Given the description of an element on the screen output the (x, y) to click on. 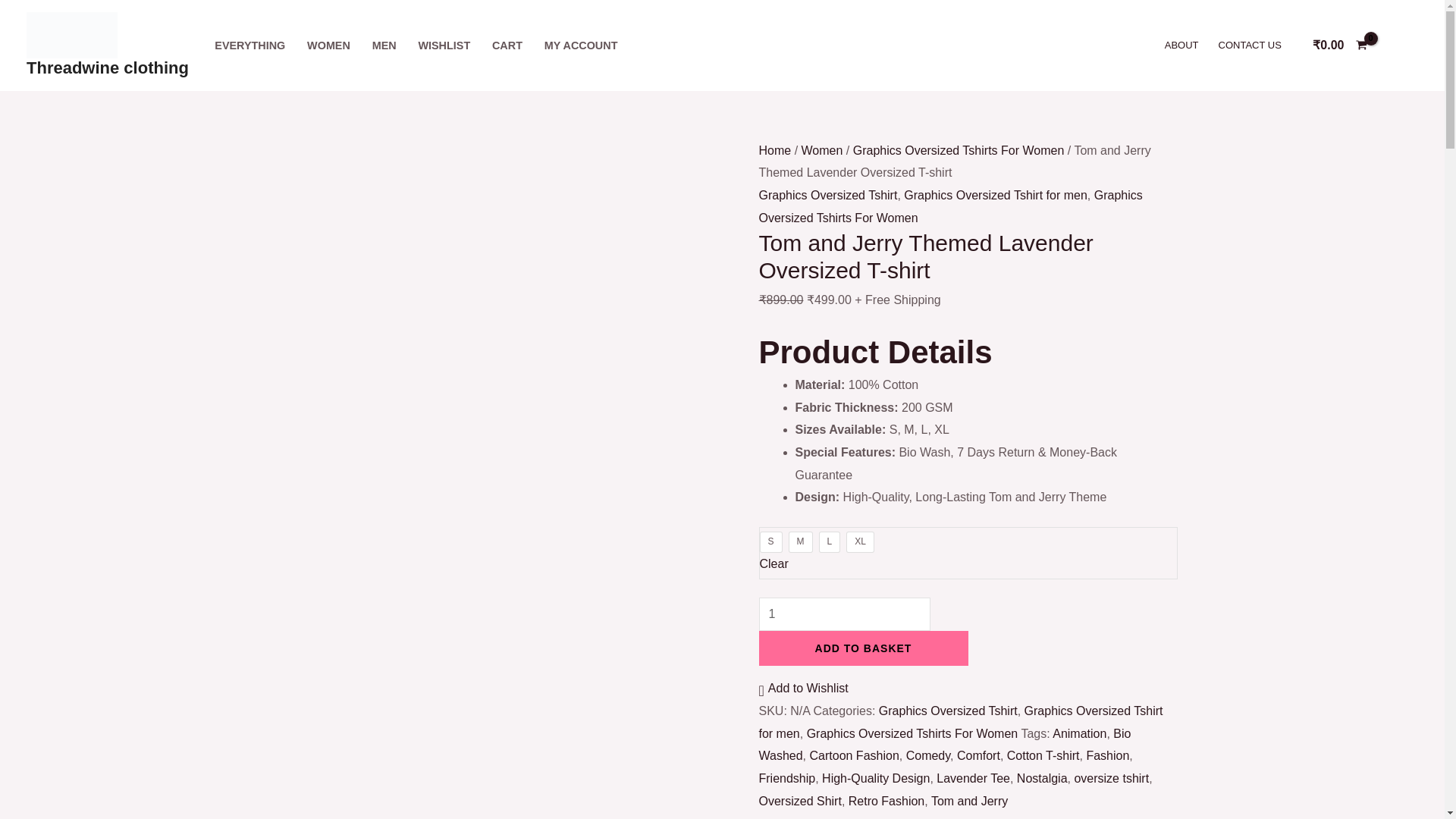
Graphics Oversized Tshirt for men (995, 195)
ADD TO BASKET (863, 647)
MY ACCOUNT (580, 45)
Graphics Oversized Tshirt for men (959, 722)
Graphics Oversized Tshirts For Women (958, 150)
WOMEN (329, 45)
Graphics Oversized Tshirt (948, 710)
Graphics Oversized Tshirts For Women (911, 733)
Home (774, 150)
Graphics Oversized Tshirt (827, 195)
Threadwine clothing (107, 67)
Bio Washed (944, 744)
Graphics Oversized Tshirts For Women (949, 206)
Add to Wishlist (802, 688)
Animation (1079, 733)
